Given the description of an element on the screen output the (x, y) to click on. 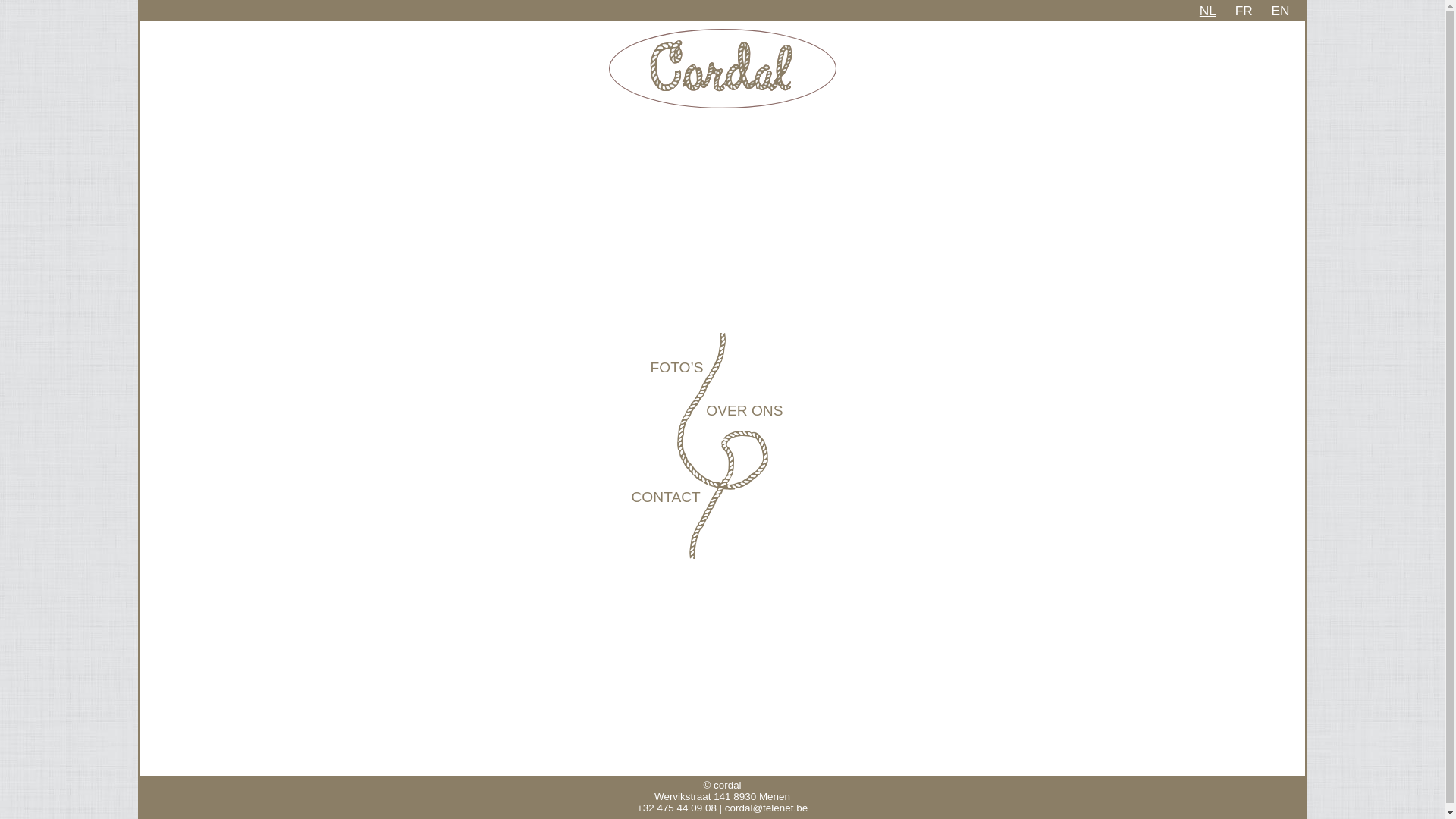
EN Element type: text (1279, 10)
CONTACT Element type: text (664, 497)
OVER ONS Element type: text (744, 410)
NL Element type: text (1207, 10)
cordal@telenet.be Element type: text (765, 807)
FR Element type: text (1243, 10)
